Given the description of an element on the screen output the (x, y) to click on. 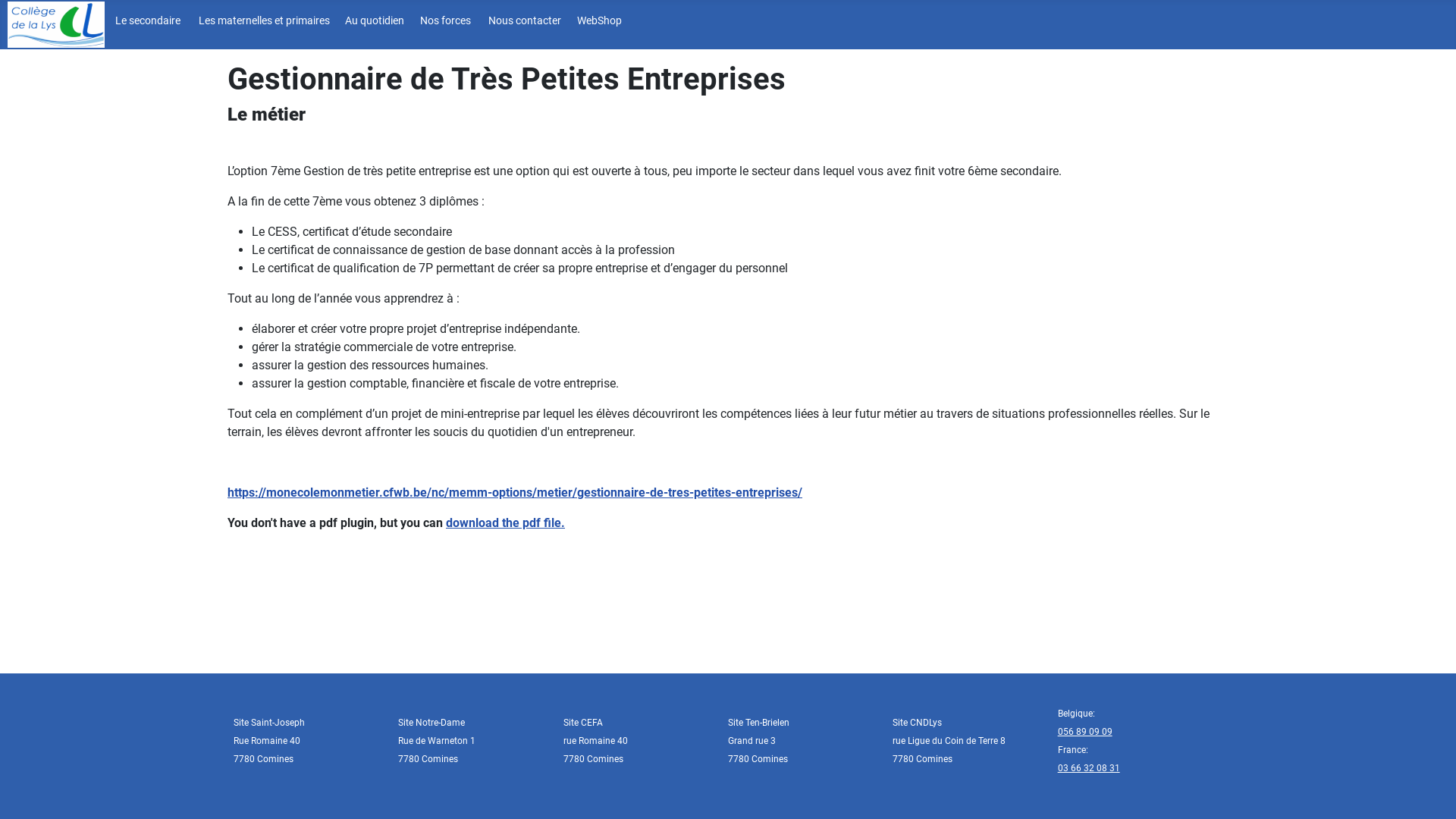
Nos forces Element type: text (443, 22)
03 66 32 08 31 Element type: text (1088, 767)
056 89 09 09 Element type: text (1084, 731)
download the pdf file. Element type: text (504, 522)
Nous contacter Element type: text (522, 22)
WebShop Element type: text (597, 22)
Au quotidien Element type: text (372, 22)
Le secondaire Element type: text (145, 22)
